Given the description of an element on the screen output the (x, y) to click on. 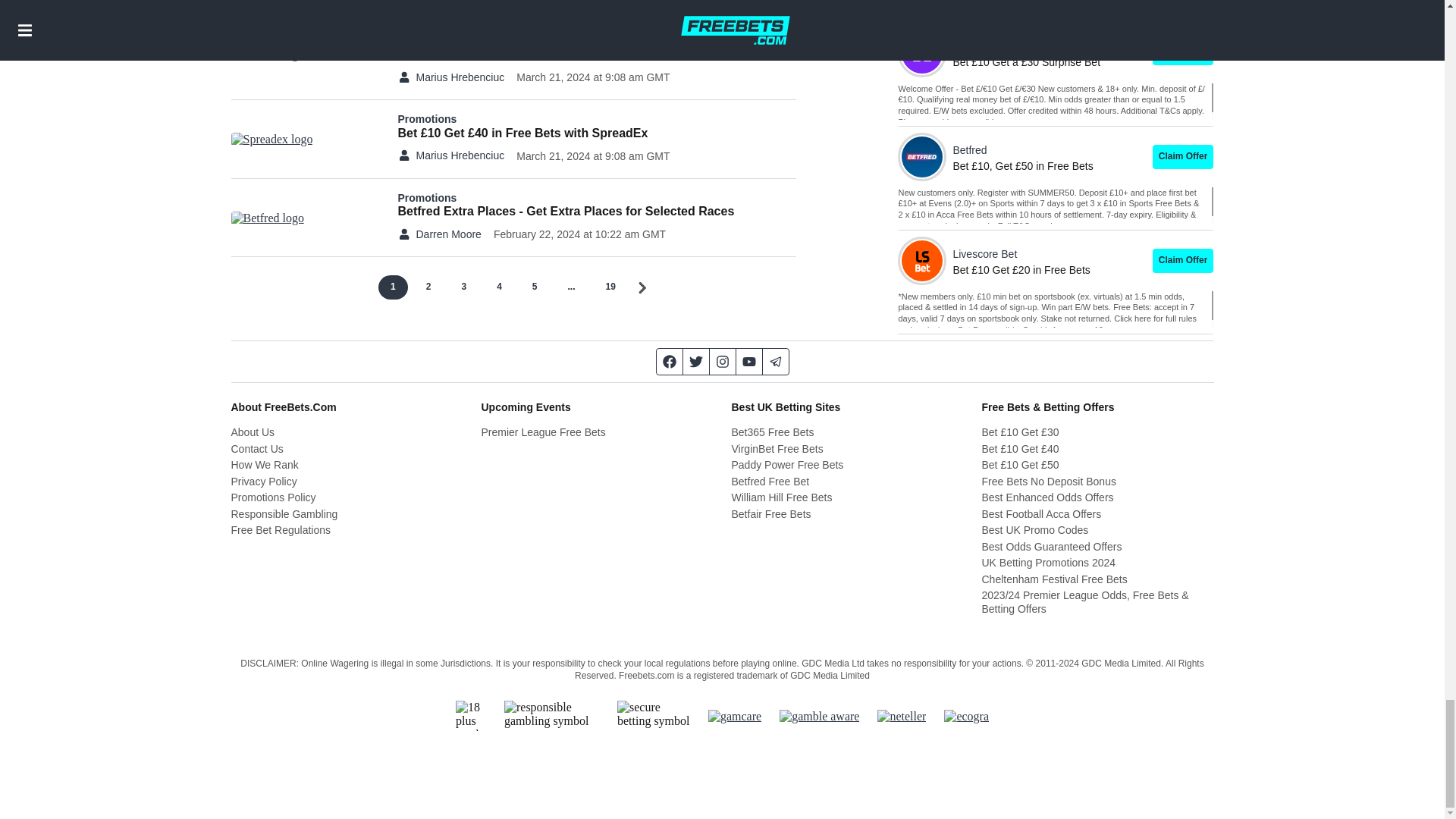
Youtube page (748, 361)
Telegram (775, 361)
Instagram page (723, 361)
Facebook page (669, 361)
Twitter feed (695, 361)
